Given the description of an element on the screen output the (x, y) to click on. 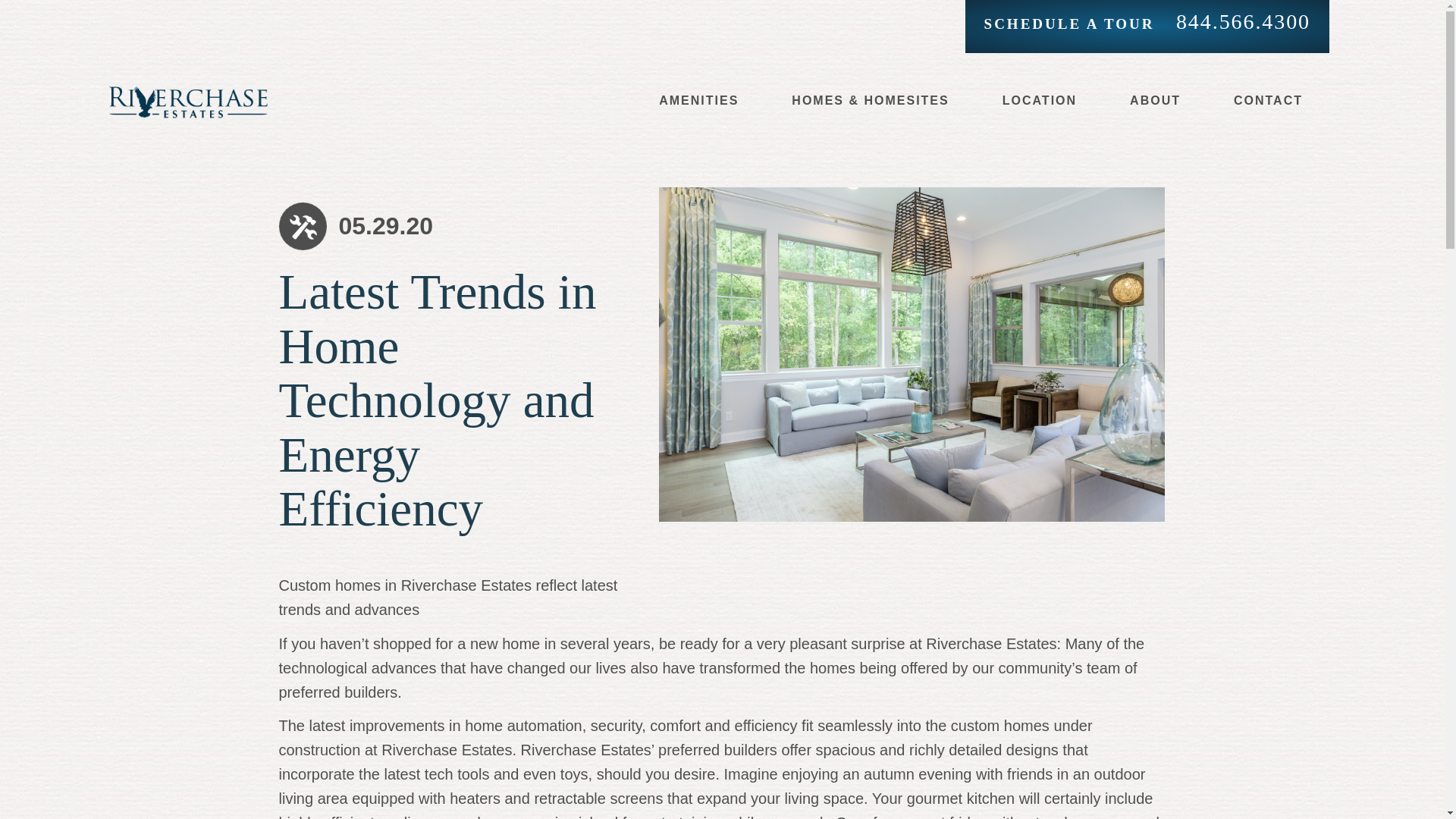
844.566.4300 (1243, 21)
AMENITIES (698, 100)
CONTACT (1268, 100)
ABOUT (1155, 100)
LOCATION (1039, 100)
SCHEDULE A TOUR (1069, 24)
